Given the description of an element on the screen output the (x, y) to click on. 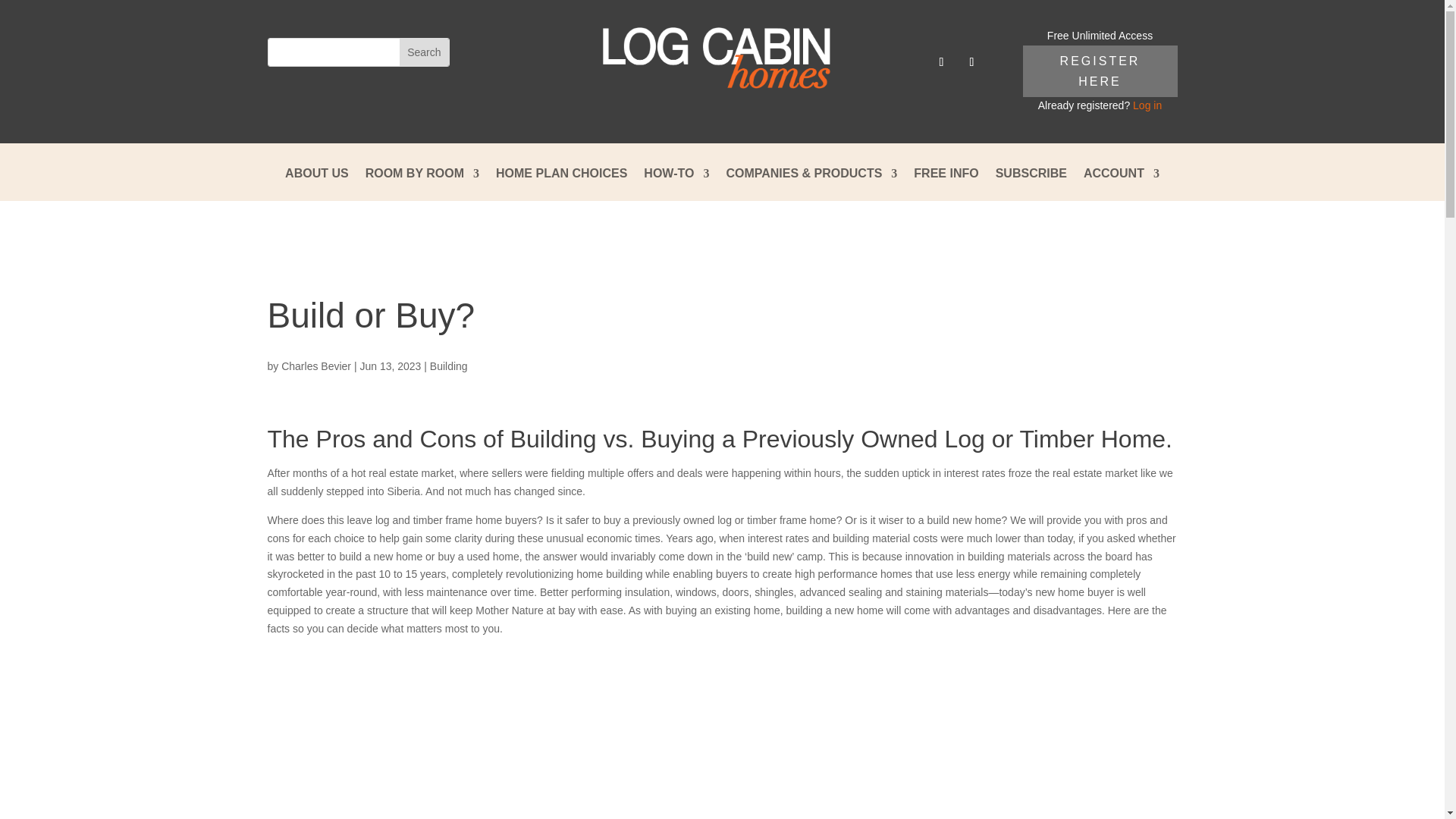
Search (423, 52)
HOW-TO (676, 184)
Posts by Charles Bevier (315, 366)
Building (448, 366)
Search (423, 52)
FREE INFO (946, 184)
Charles Bevier (315, 366)
Search (423, 52)
SUBSCRIBE (1031, 184)
Log in (1146, 105)
